Given the description of an element on the screen output the (x, y) to click on. 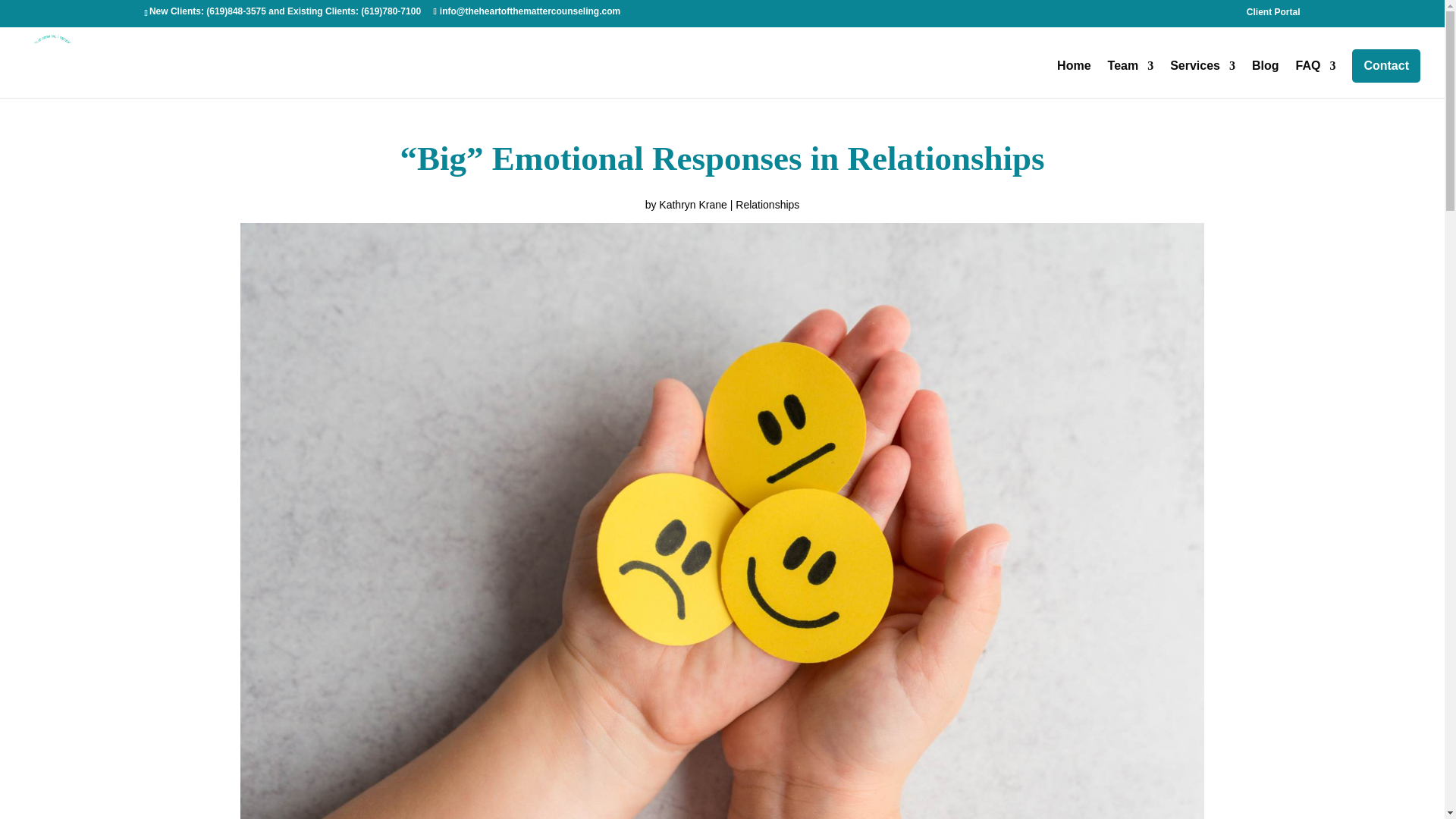
Relationships (767, 204)
FAQ (1315, 77)
Home (1073, 77)
Services (1202, 77)
Posts by Kathryn Krane (692, 204)
Kathryn Krane (692, 204)
Team (1131, 77)
Contact (1386, 65)
Client Portal (1273, 15)
